Given the description of an element on the screen output the (x, y) to click on. 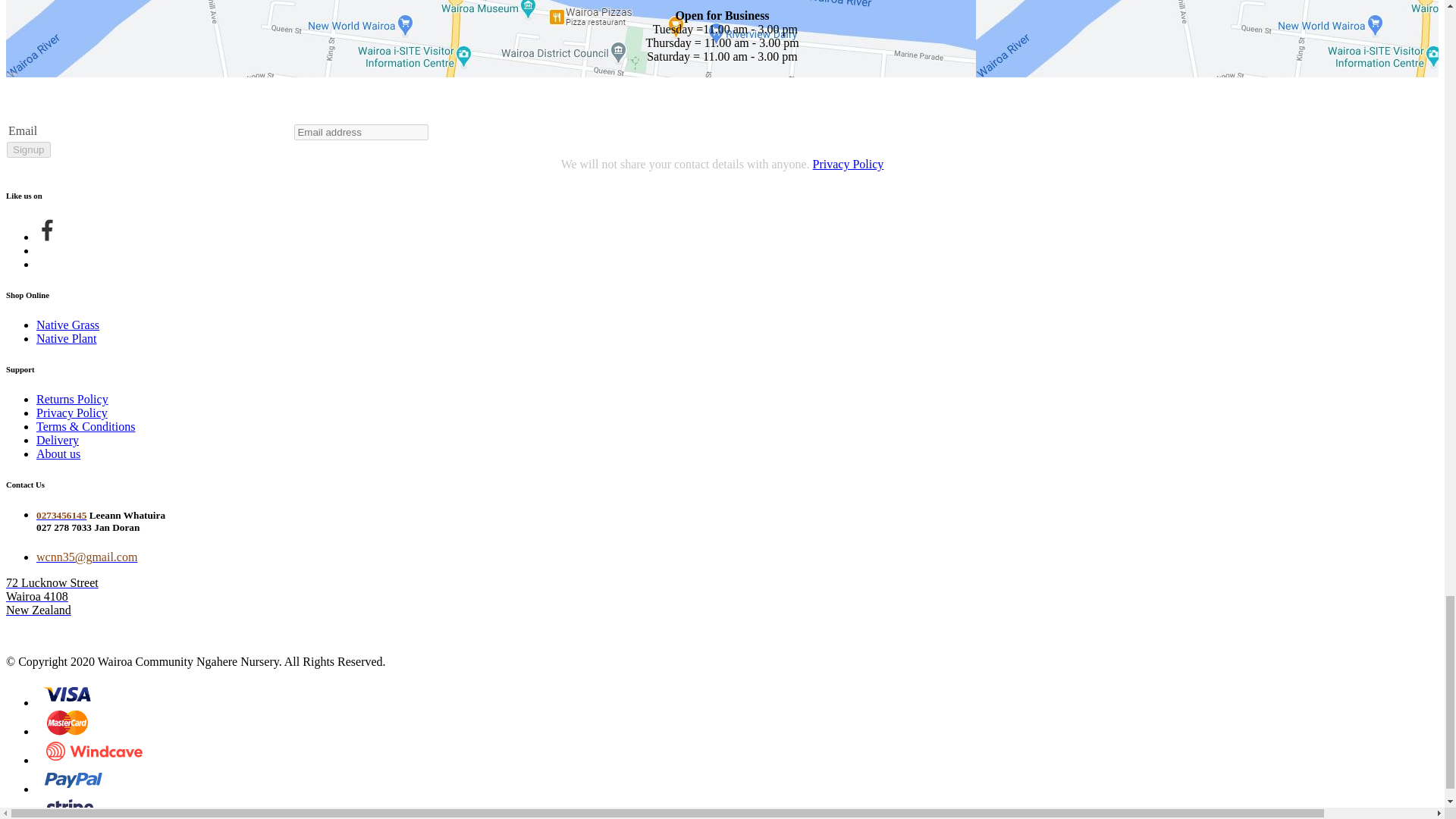
Facebook (47, 229)
Privacy Policy (71, 412)
Windcave (94, 751)
Mastercard (66, 722)
Native Grass (67, 324)
Returns Policy (71, 399)
Privacy Policy (847, 164)
Paypal (73, 780)
Visa (68, 693)
Delivery (57, 440)
Native Plant (66, 338)
Signup (28, 149)
